Given the description of an element on the screen output the (x, y) to click on. 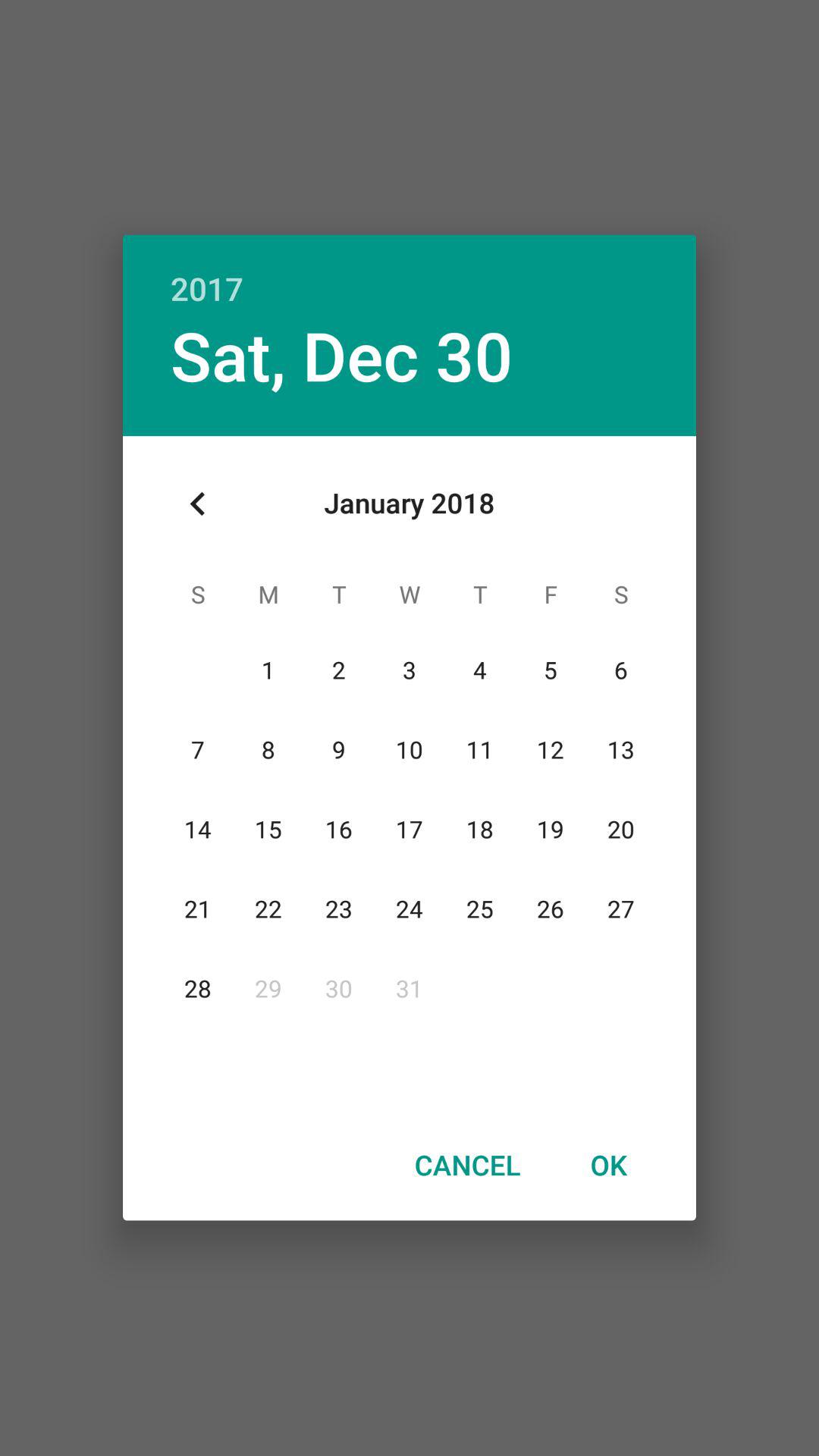
swipe until the 2017 (409, 271)
